Given the description of an element on the screen output the (x, y) to click on. 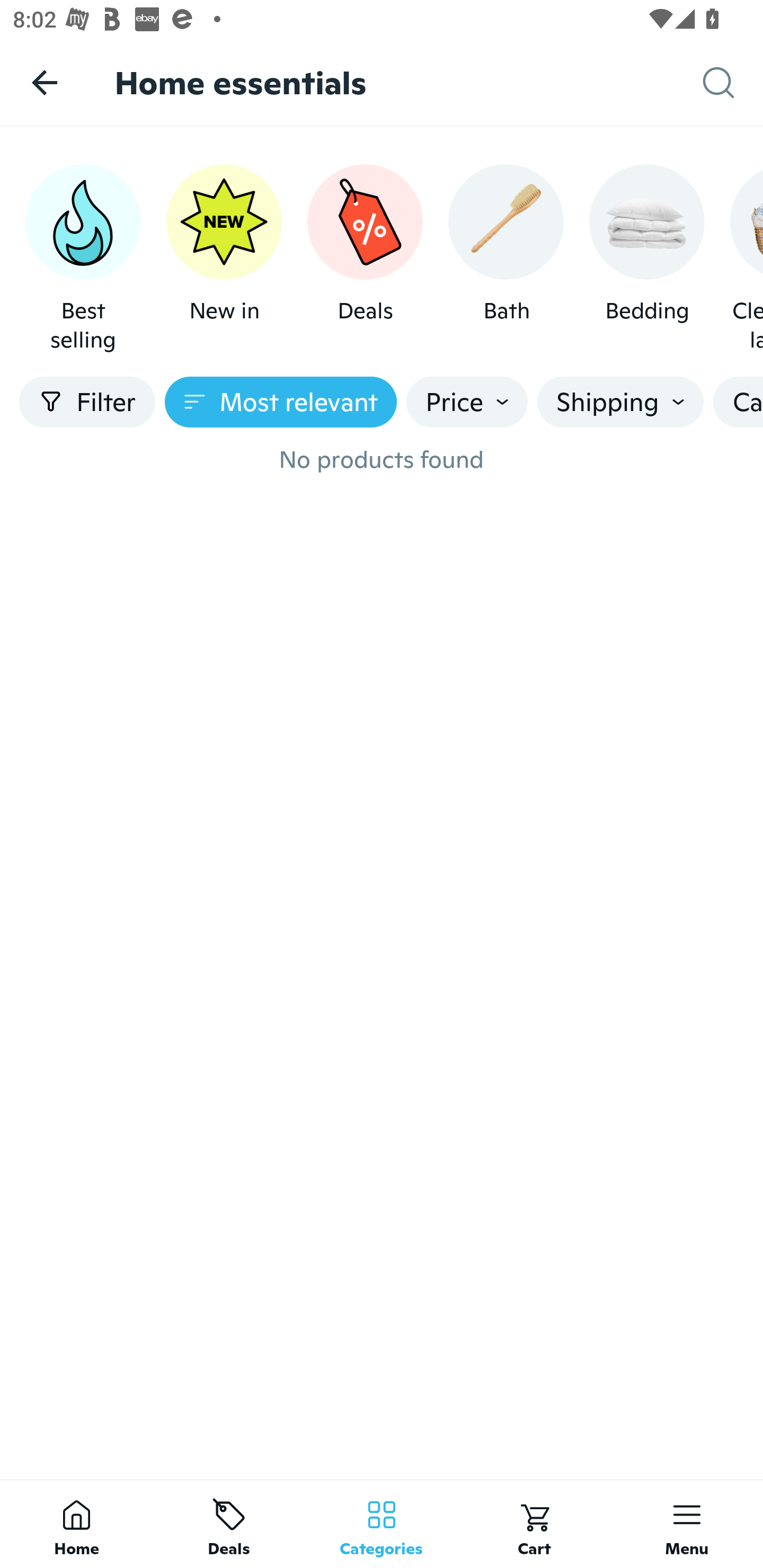
Navigate up (44, 82)
Search (732, 82)
Best selling (83, 259)
New in (223, 259)
Deals (364, 259)
Bath (505, 259)
Bedding (647, 259)
Filter (86, 402)
Most relevant (280, 402)
Price (466, 402)
Shipping (620, 402)
Home (76, 1523)
Deals (228, 1523)
Categories (381, 1523)
Cart (533, 1523)
Menu (686, 1523)
